Given the description of an element on the screen output the (x, y) to click on. 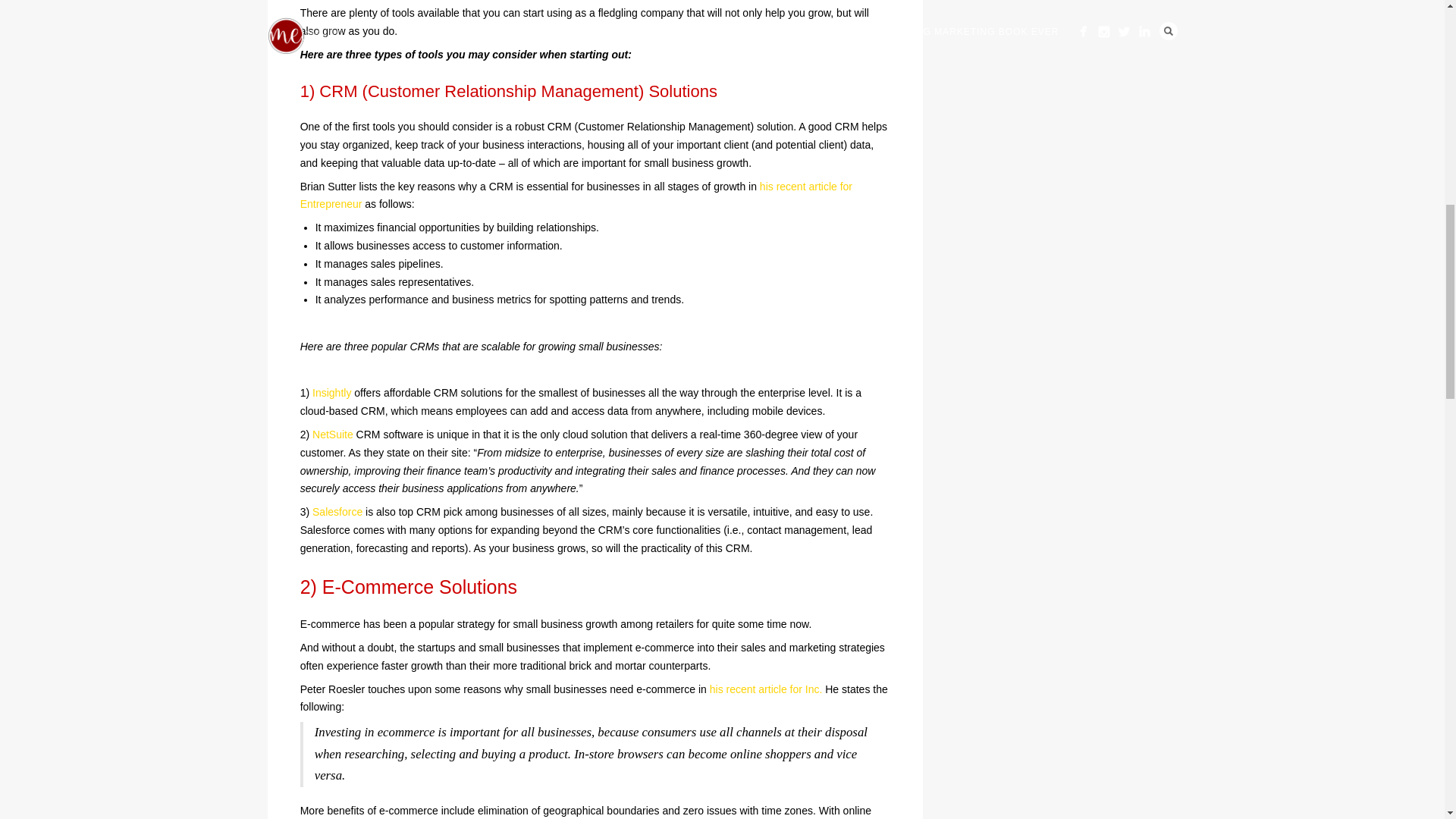
Salesforce (337, 511)
his recent article for Entrepreneur (575, 195)
his recent article for Inc. (766, 689)
NetSuite (333, 434)
Insightly (331, 392)
